Given the description of an element on the screen output the (x, y) to click on. 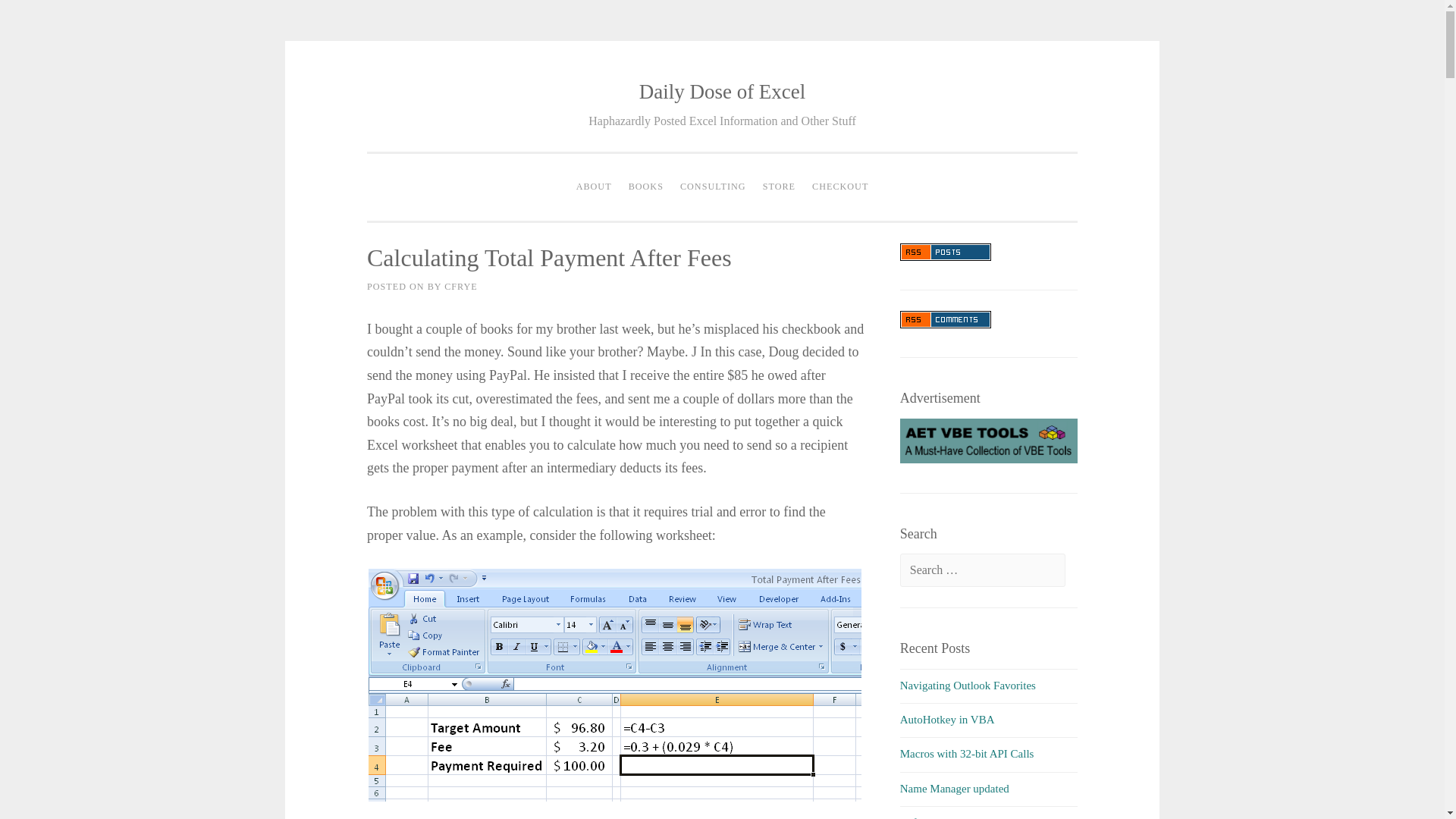
CFRYE (460, 286)
Daily Dose of Excel (722, 91)
CHECKOUT (840, 186)
BOOKS (645, 186)
CONSULTING (712, 186)
STORE (778, 186)
ABOUT (593, 186)
Daily Dose of Excel (722, 91)
